Given the description of an element on the screen output the (x, y) to click on. 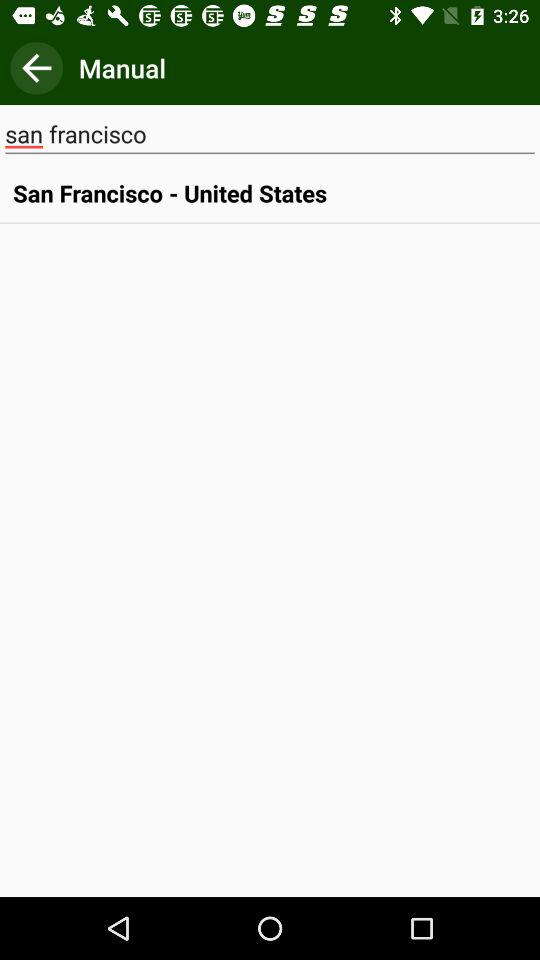
go back (36, 68)
